Given the description of an element on the screen output the (x, y) to click on. 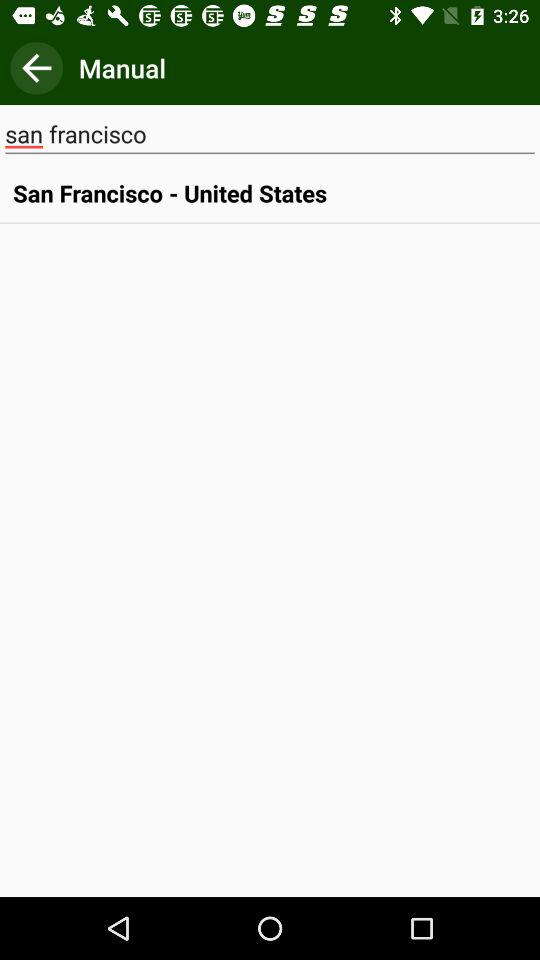
go back (36, 68)
